Given the description of an element on the screen output the (x, y) to click on. 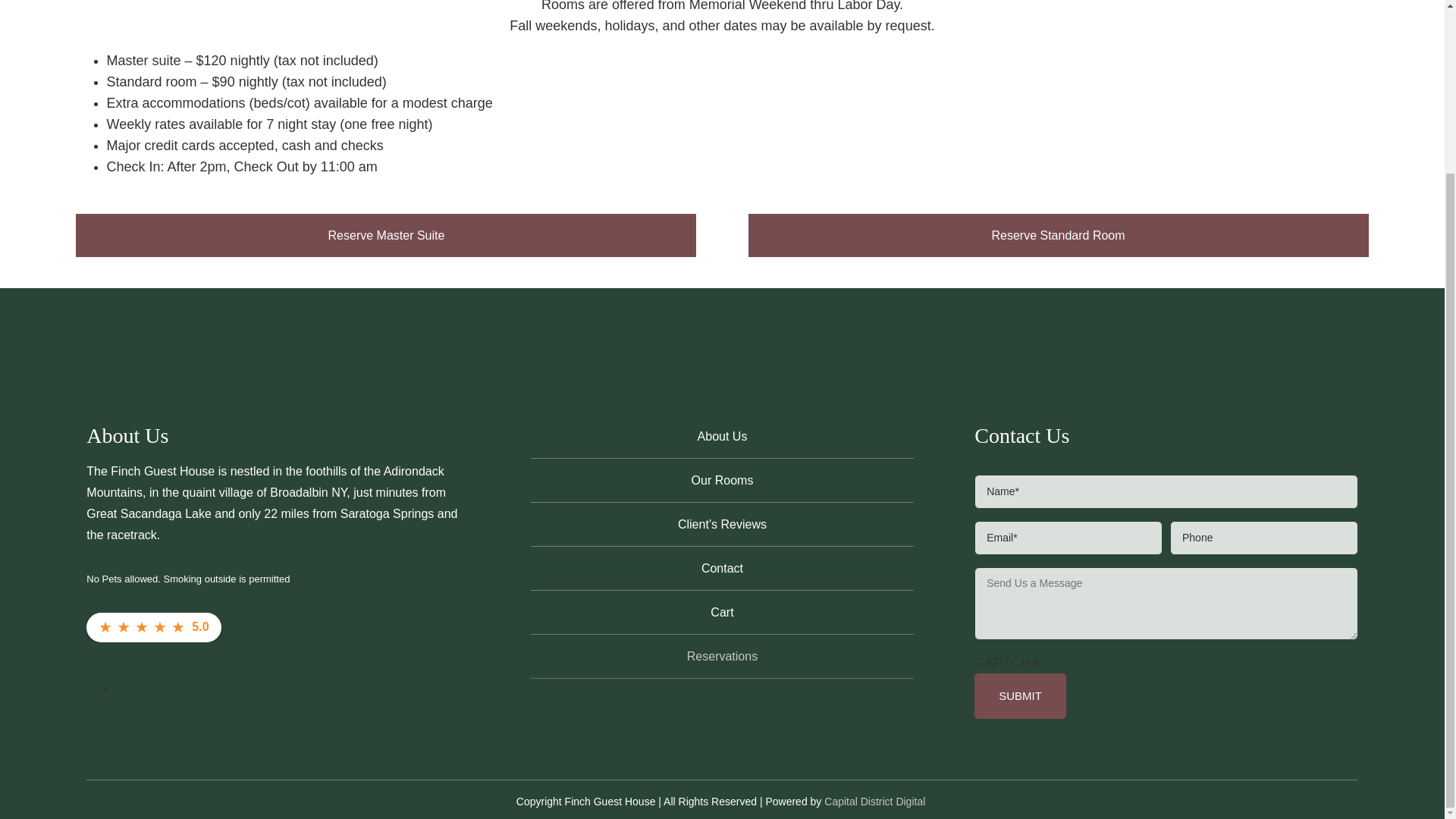
Cart (722, 611)
Our Rooms (722, 479)
Submit (1019, 696)
Contact (722, 567)
About Us (722, 435)
Reservations (722, 655)
Capital District Digital (874, 801)
Reserve Standard Room (1058, 235)
Submit (1019, 696)
Reserve Master Suite (385, 235)
